Given the description of an element on the screen output the (x, y) to click on. 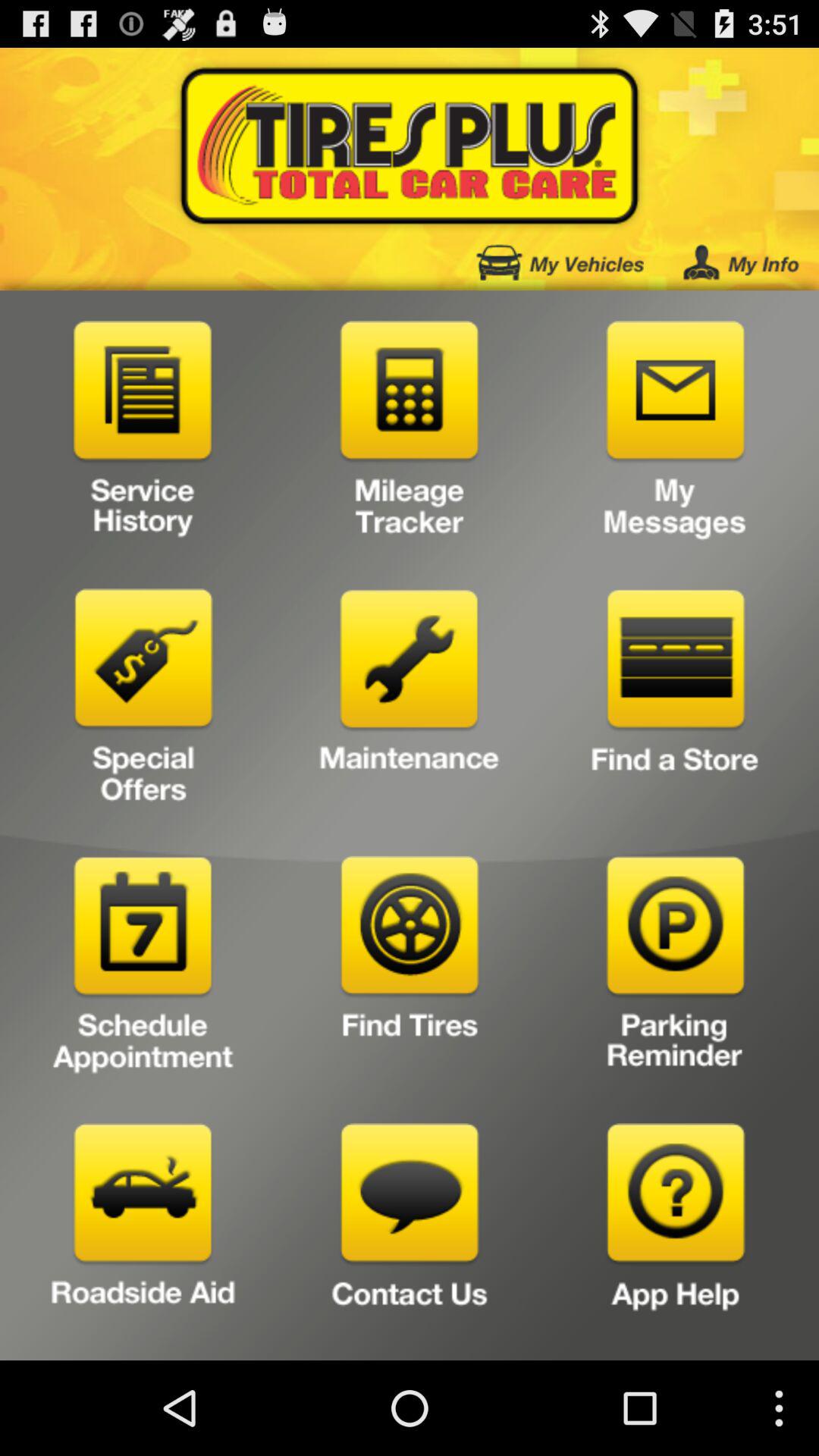
locate store (675, 701)
